Given the description of an element on the screen output the (x, y) to click on. 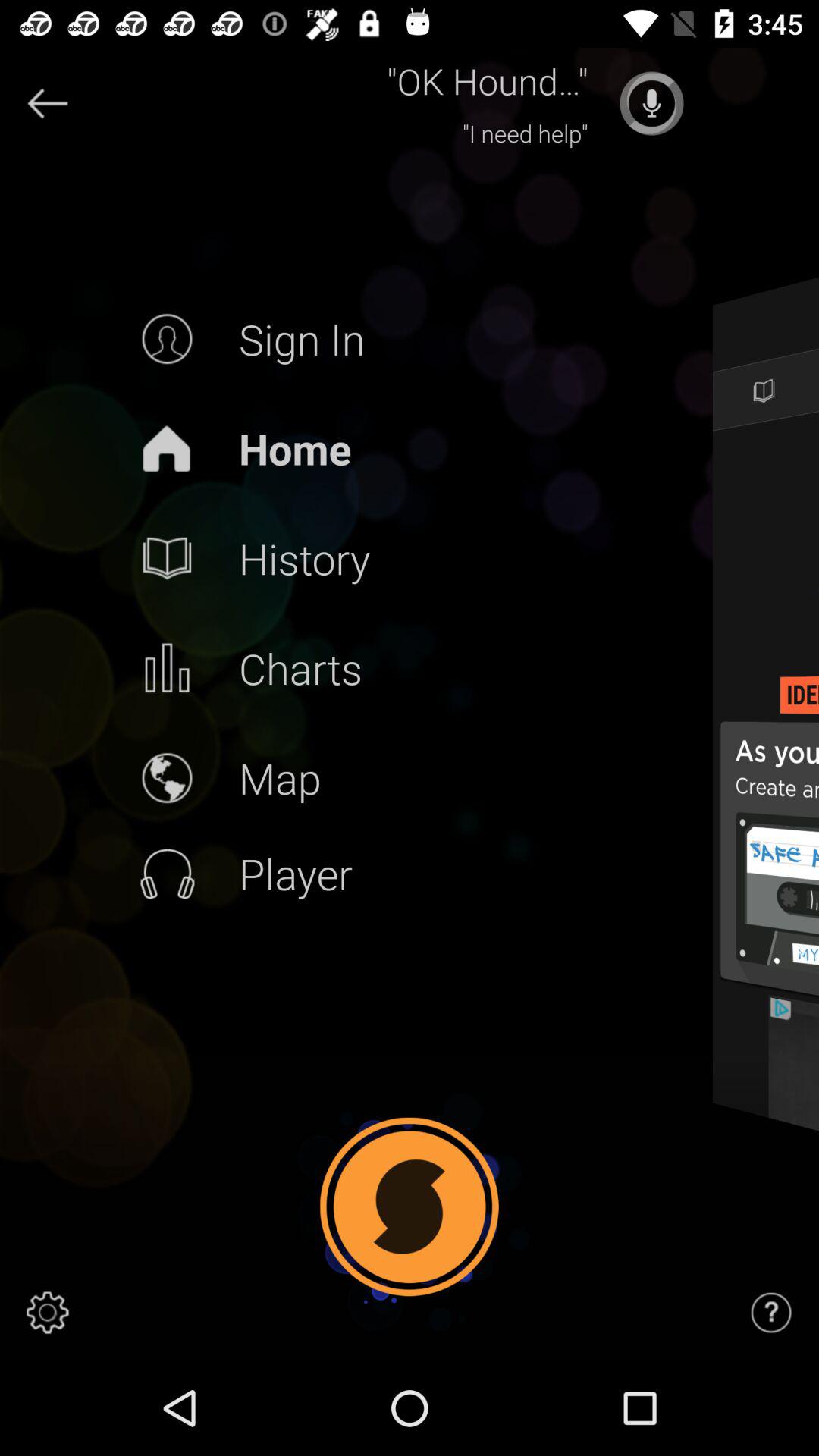
listen song (651, 103)
